Given the description of an element on the screen output the (x, y) to click on. 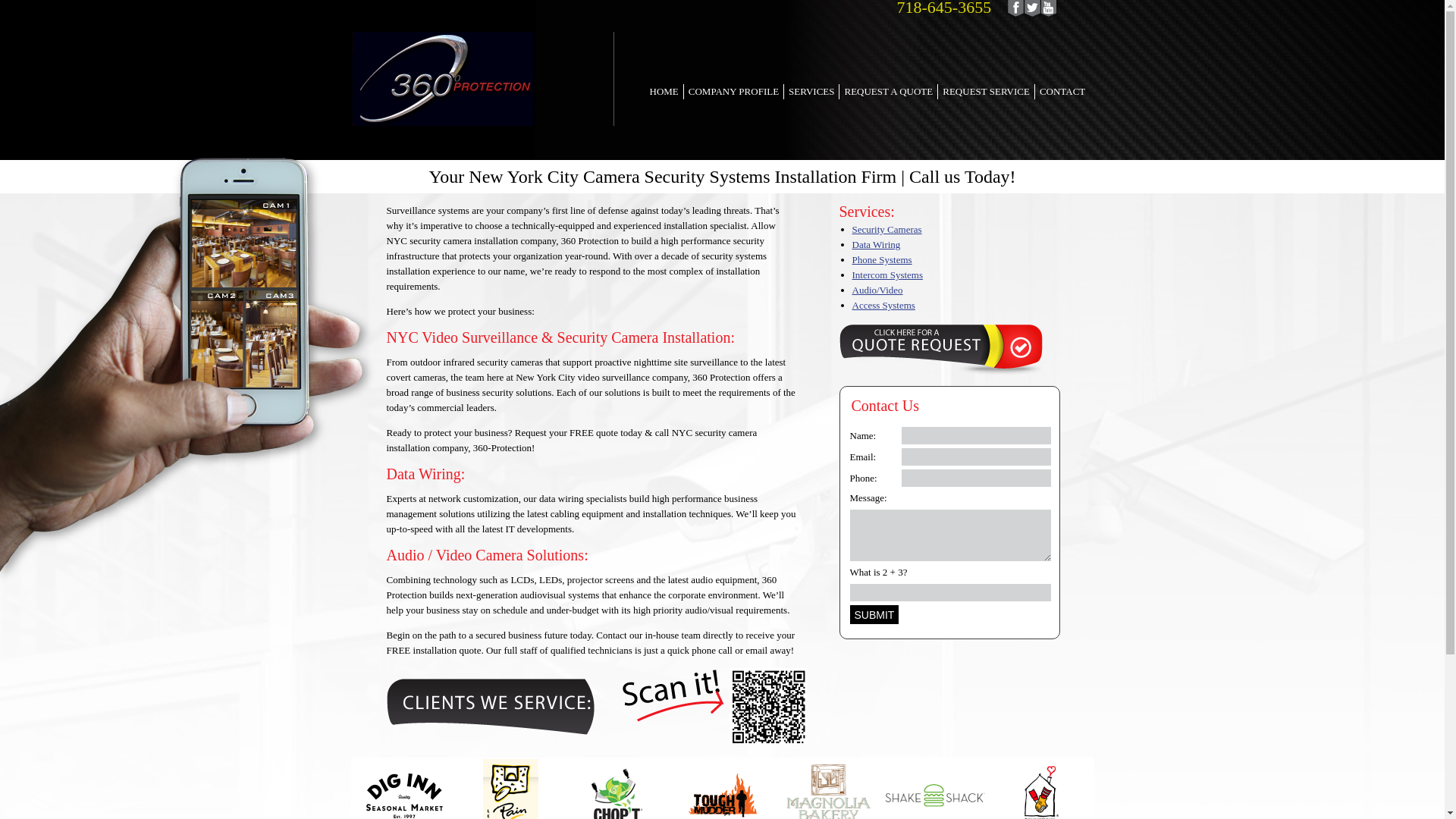
Security Cameras Element type: text (887, 229)
REQUEST SERVICE Element type: text (985, 91)
Phone Systems Element type: text (882, 259)
SERVICES Element type: text (811, 91)
REQUEST A QUOTE Element type: text (888, 91)
youtube Element type: text (1048, 7)
COMPANY PROFILE Element type: text (733, 91)
Data Wiring Element type: text (876, 244)
HOME Element type: text (663, 91)
CONTACT Element type: text (1062, 91)
718-645-3655 Element type: text (993, 7)
Audio/Video Element type: text (877, 289)
Facebook Element type: text (1015, 7)
twitter Element type: text (1031, 7)
SUBMIT Element type: text (873, 614)
Access Systems Element type: text (883, 304)
Intercom Systems Element type: text (887, 274)
